Given the description of an element on the screen output the (x, y) to click on. 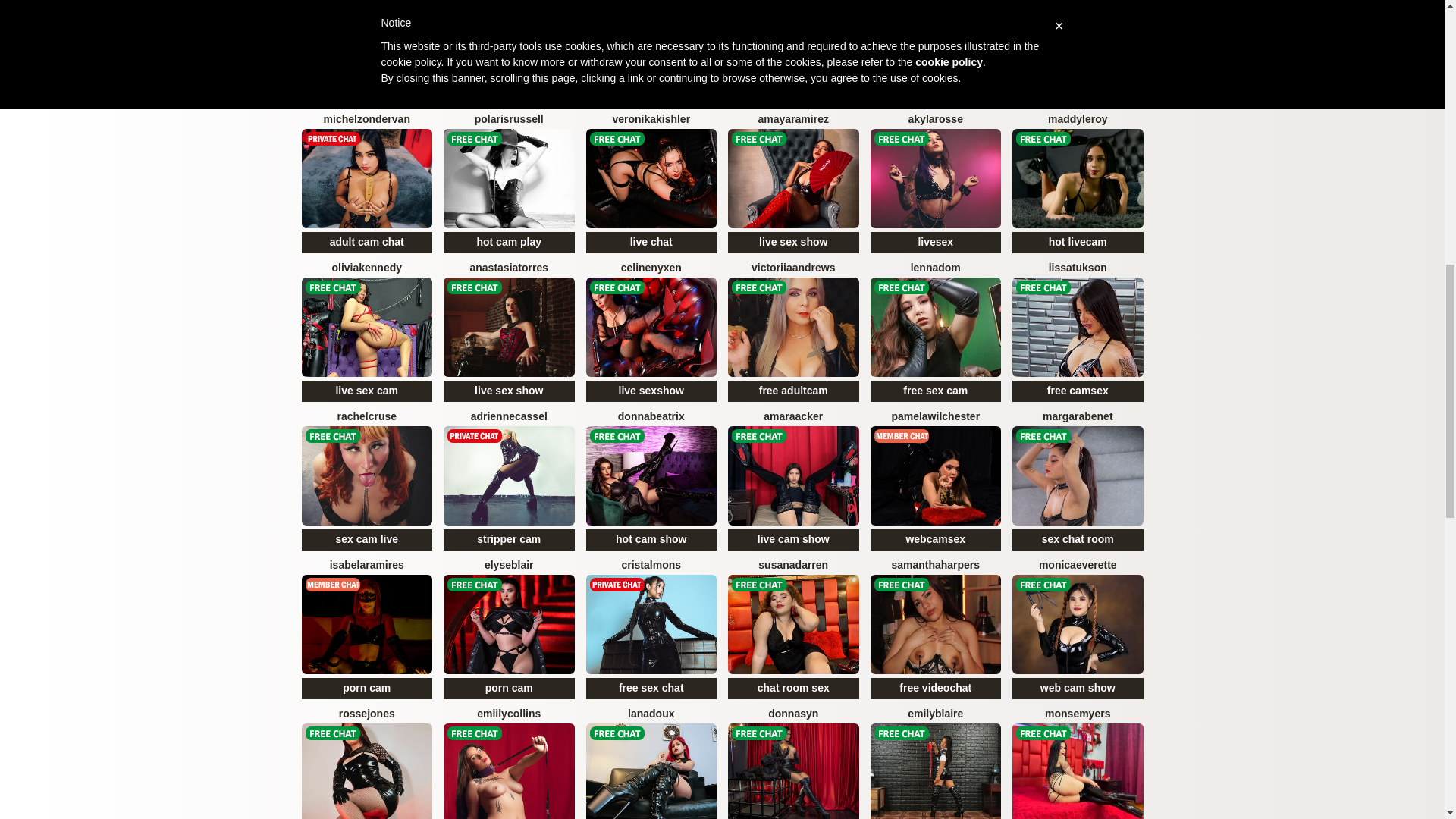
MaddyLeroy (1078, 186)
FernandaRosso (793, 56)
AdrienneCassel (509, 483)
VictoriiaAndrews (793, 335)
AkylaRosse (935, 186)
AngelicaReis (509, 56)
LennaDom (935, 335)
OliviaKennedy (366, 335)
CelineNyxen (650, 335)
PolarisRussell (509, 186)
AmayaRamirez (793, 186)
LissaTukson (1078, 335)
SophieReens (650, 56)
SharonRoyce (935, 56)
RachelCruse (366, 483)
